Given the description of an element on the screen output the (x, y) to click on. 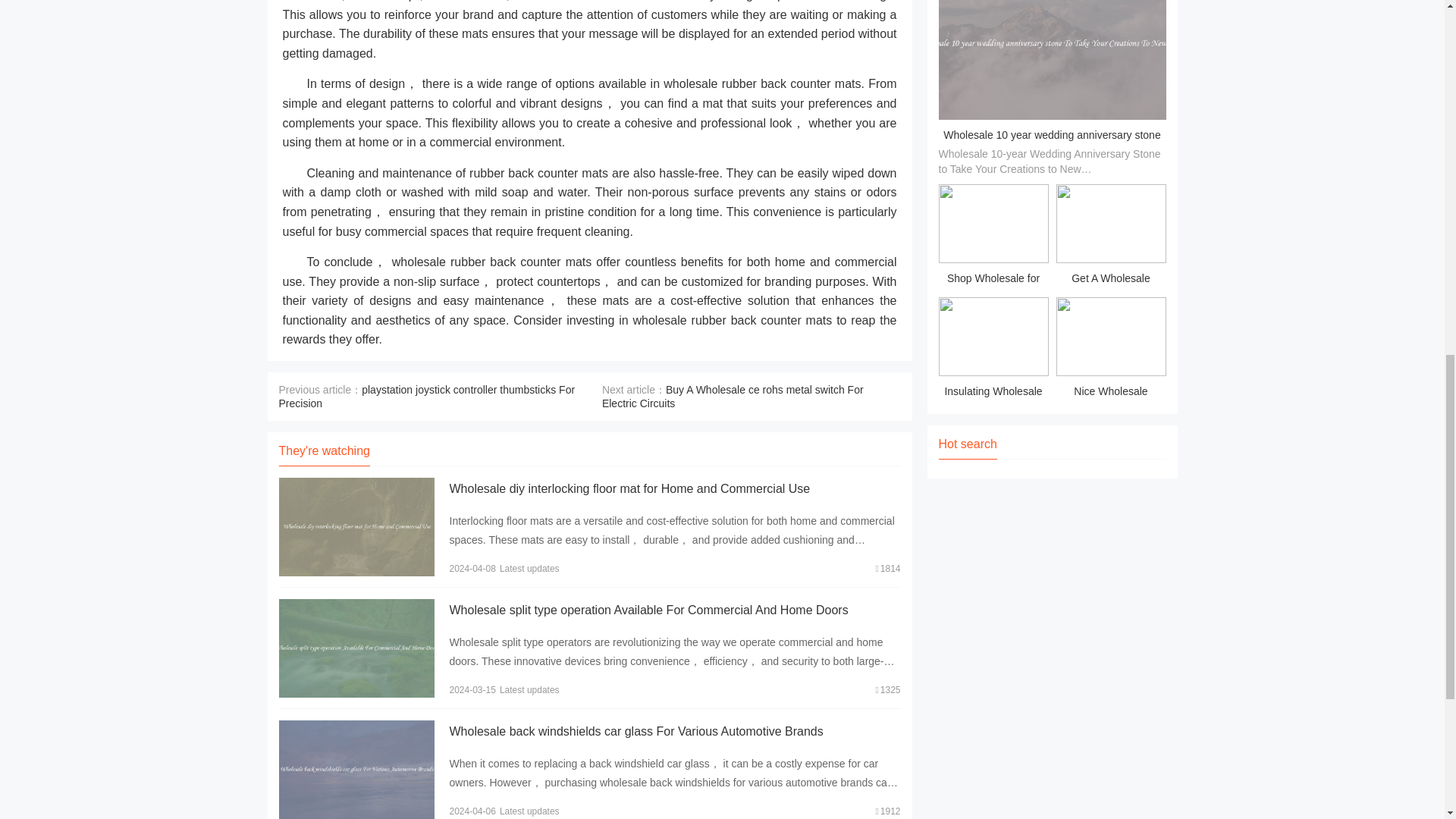
Get A Wholesale secure networks that For Property Protection (1110, 236)
Buy A Wholesale ce rohs metal switch For Electric Circuits (732, 396)
playstation joystick controller thumbsticks For Precision (427, 396)
Shop Wholesale for New, Used and Rebuilt crane parts bearing (993, 236)
